Given the description of an element on the screen output the (x, y) to click on. 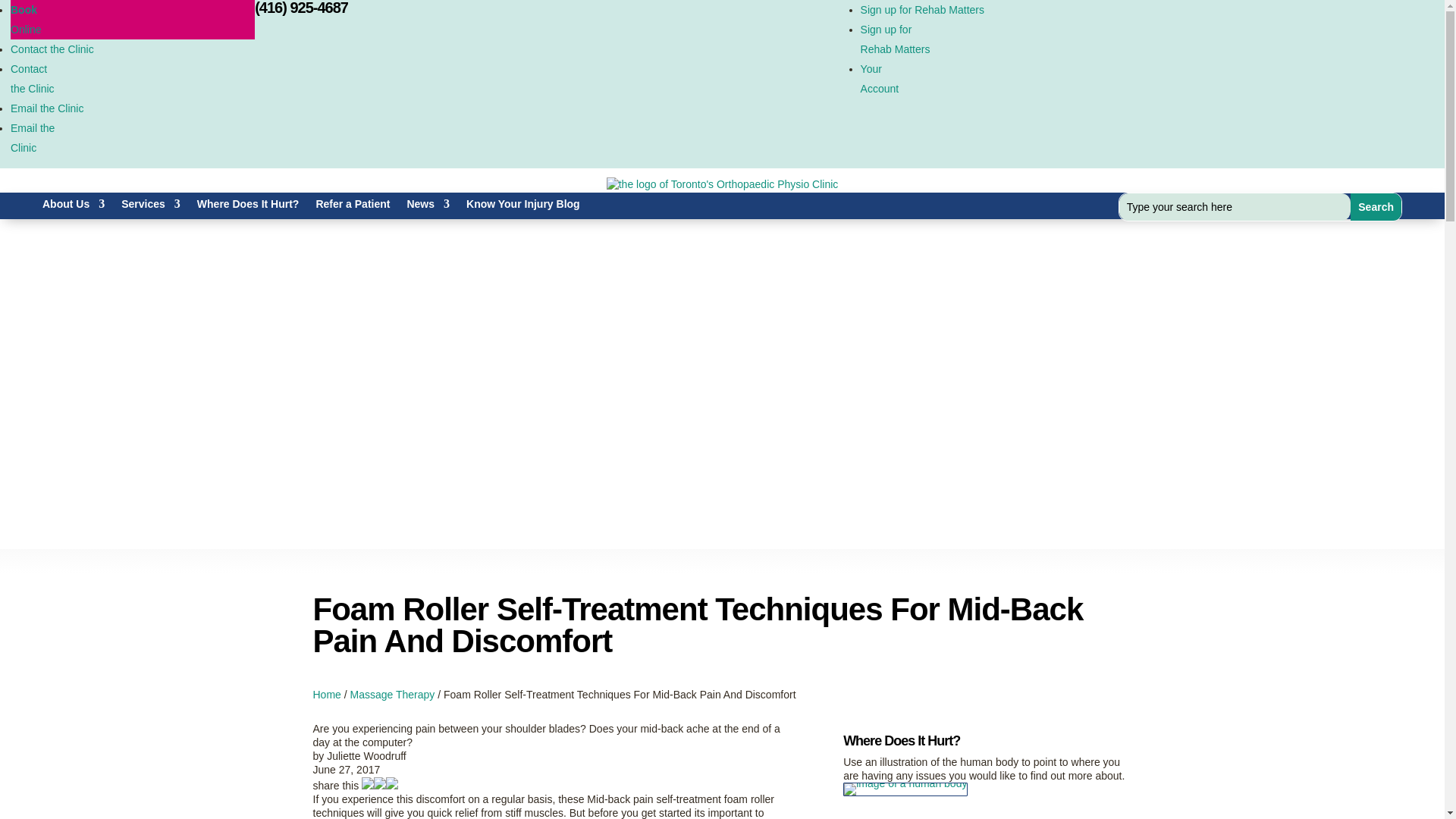
Share on Facebook (367, 785)
Sign up for Rehab Matters (922, 9)
Email us (32, 137)
Contact the Clinic (52, 49)
About Us (73, 207)
Contact Us (32, 79)
Share on Twitter (391, 785)
Search (1375, 206)
Share on LinkedIn (379, 785)
phone number of the Orthopaedic Therapy Clinic (895, 39)
Contact Us (300, 7)
Refer a Patient (52, 49)
Search (352, 207)
